Given the description of an element on the screen output the (x, y) to click on. 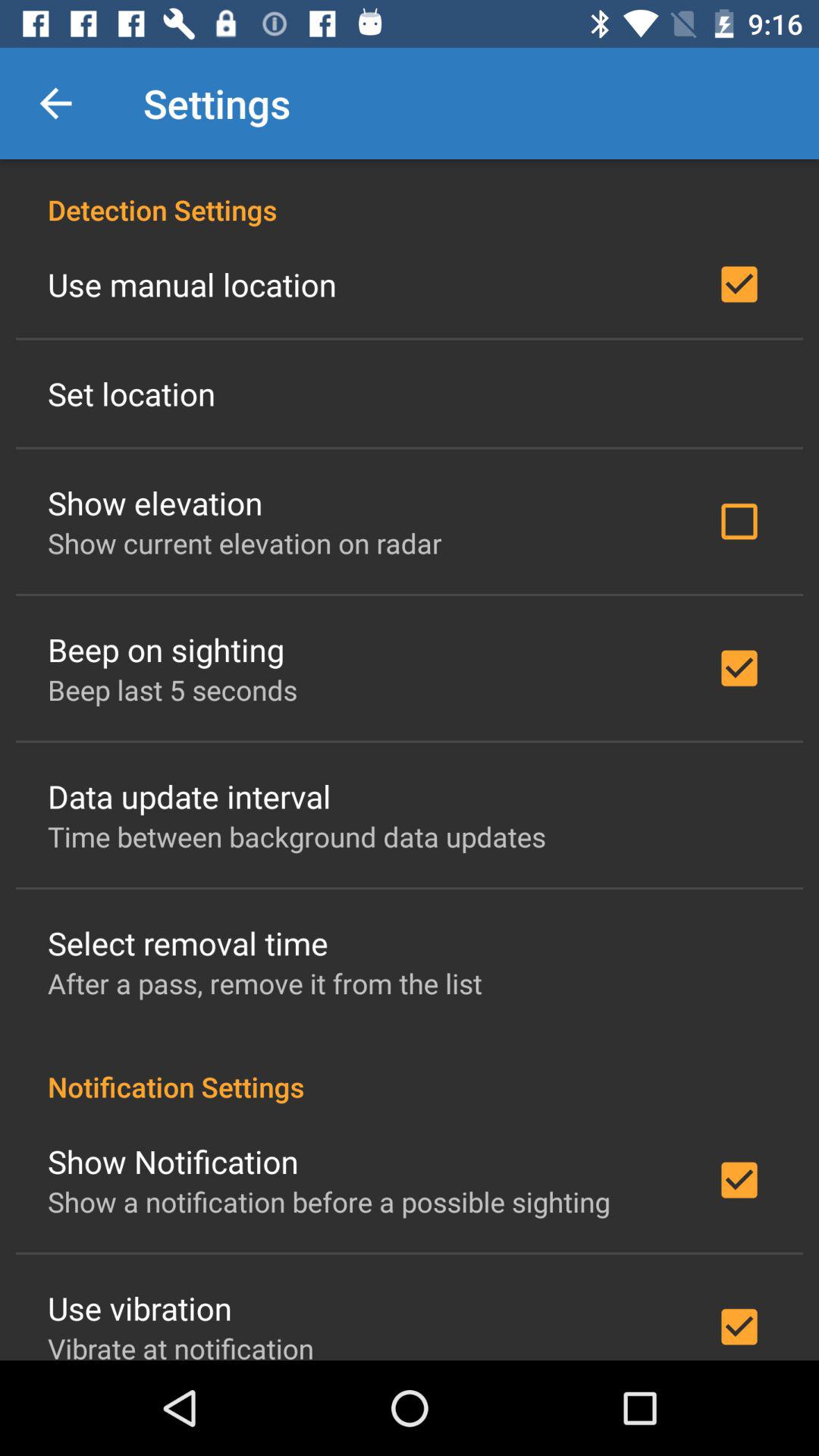
turn off the item below the show current elevation item (165, 649)
